Given the description of an element on the screen output the (x, y) to click on. 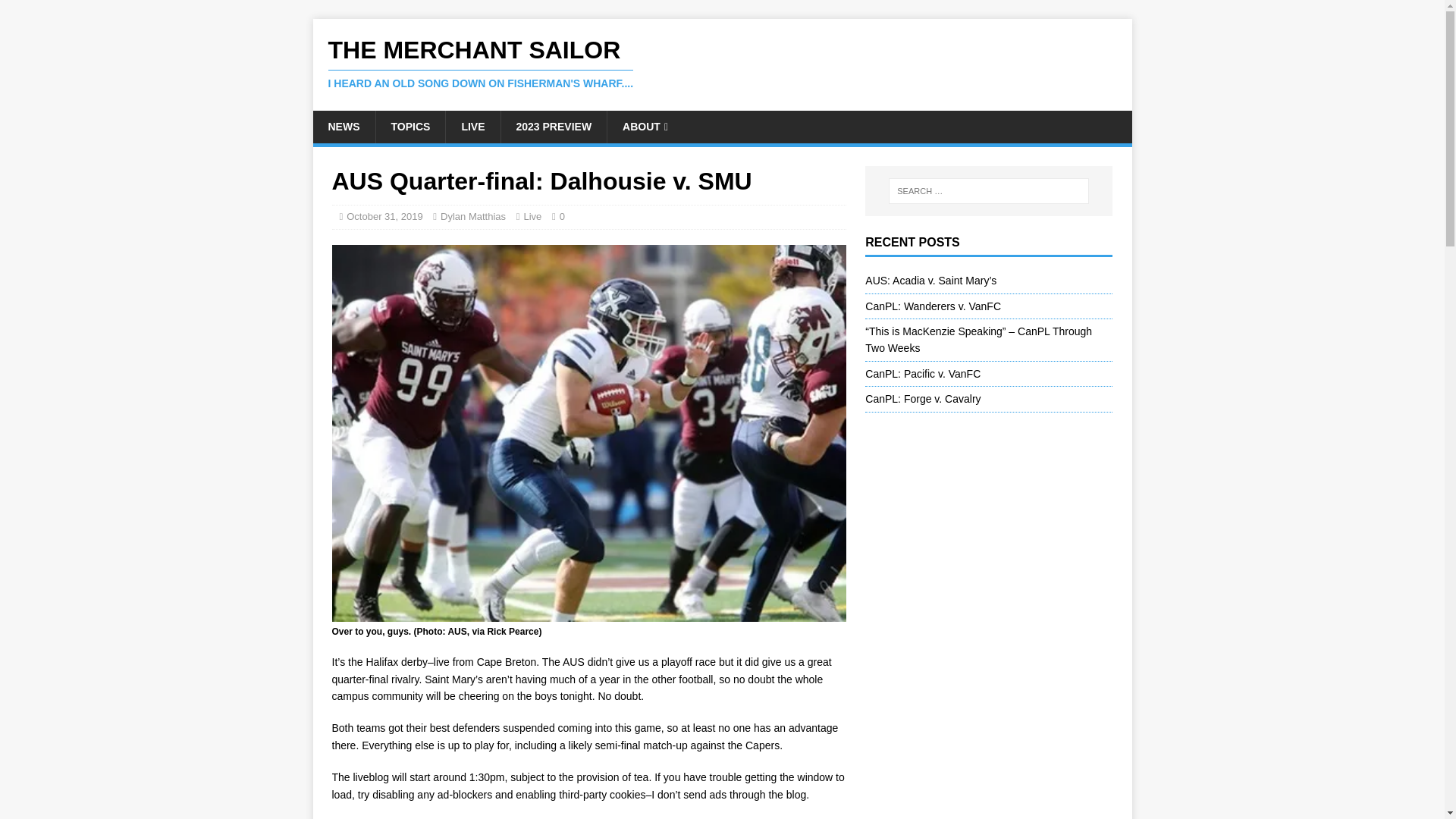
2023 PREVIEW (553, 126)
Search (56, 11)
October 31, 2019 (384, 215)
CanPL: Forge v. Cavalry (921, 398)
CanPL: Pacific v. VanFC (921, 373)
LIVE (472, 126)
Live (531, 215)
Dylan Matthias (473, 215)
